Given the description of an element on the screen output the (x, y) to click on. 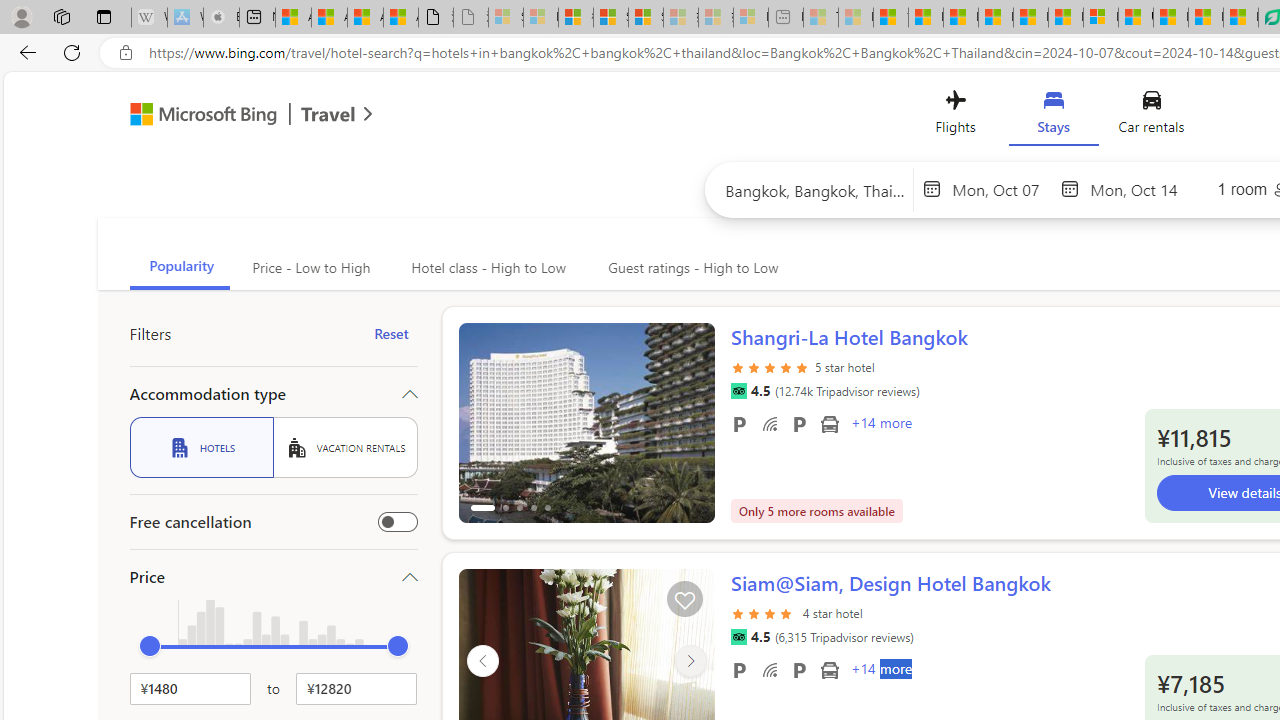
Popularity (179, 268)
Search hotels or place (815, 190)
Travel (328, 116)
Free parking (738, 669)
Buy iPad - Apple - Sleeping (221, 17)
Aberdeen, Hong Kong SAR severe weather | Microsoft Weather (401, 17)
Top Stories - MSN - Sleeping (820, 17)
Wikipedia - Sleeping (149, 17)
Microsoft Services Agreement - Sleeping (540, 17)
Price - Low to High (309, 268)
Airport transportation (829, 669)
Drinking tea every day is proven to delay biological aging (995, 17)
